Given the description of an element on the screen output the (x, y) to click on. 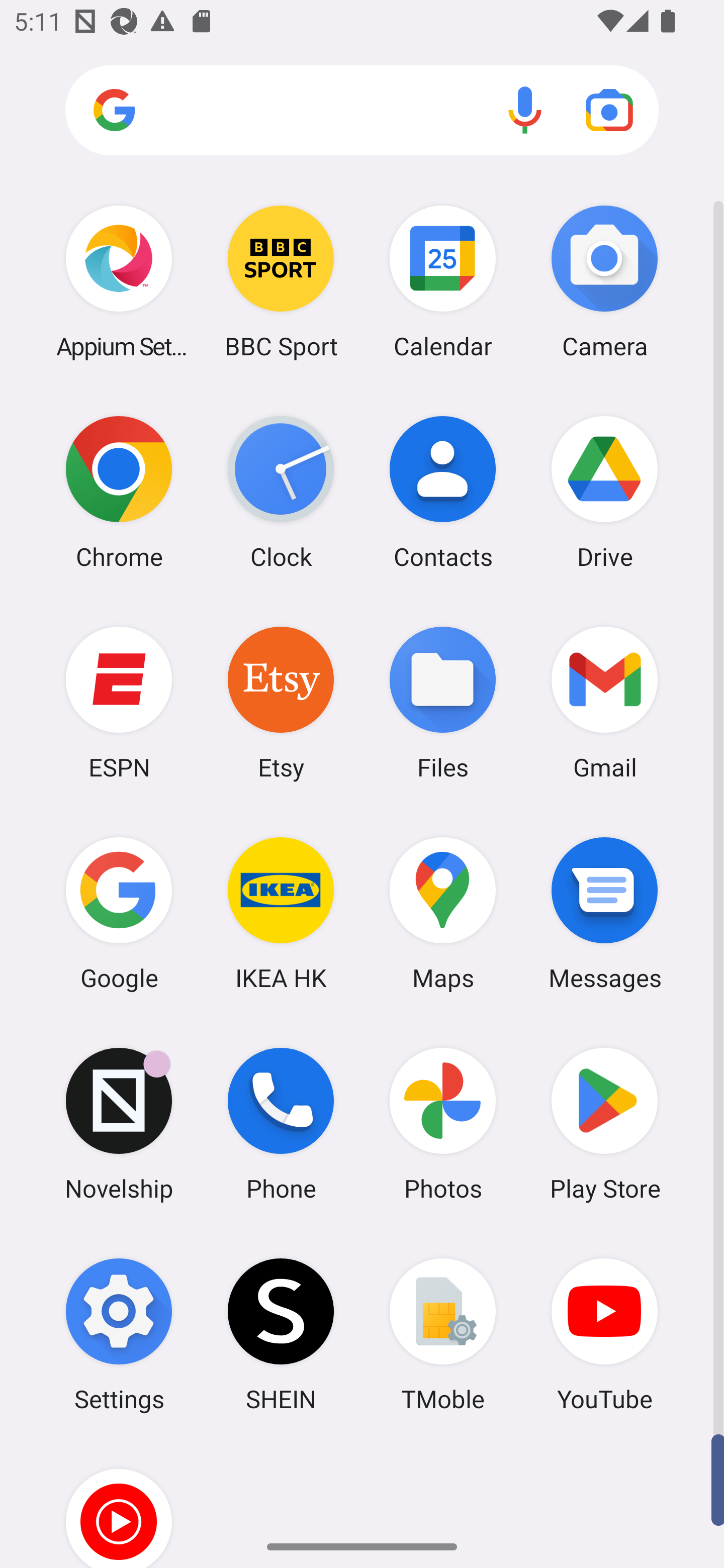
Search apps, web and more (361, 110)
Voice search (524, 109)
Google Lens (608, 109)
Appium Settings (118, 281)
BBC Sport (280, 281)
Calendar (443, 281)
Camera (604, 281)
Chrome (118, 492)
Clock (280, 492)
Contacts (443, 492)
Drive (604, 492)
ESPN (118, 702)
Etsy (280, 702)
Files (443, 702)
Gmail (604, 702)
Google (118, 913)
IKEA HK (280, 913)
Maps (443, 913)
Messages (604, 913)
Novelship Novelship has 1 notification (118, 1124)
Phone (280, 1124)
Photos (443, 1124)
Play Store (604, 1124)
Settings (118, 1334)
SHEIN (280, 1334)
TMoble (443, 1334)
YouTube (604, 1334)
YT Music (118, 1503)
